Given the description of an element on the screen output the (x, y) to click on. 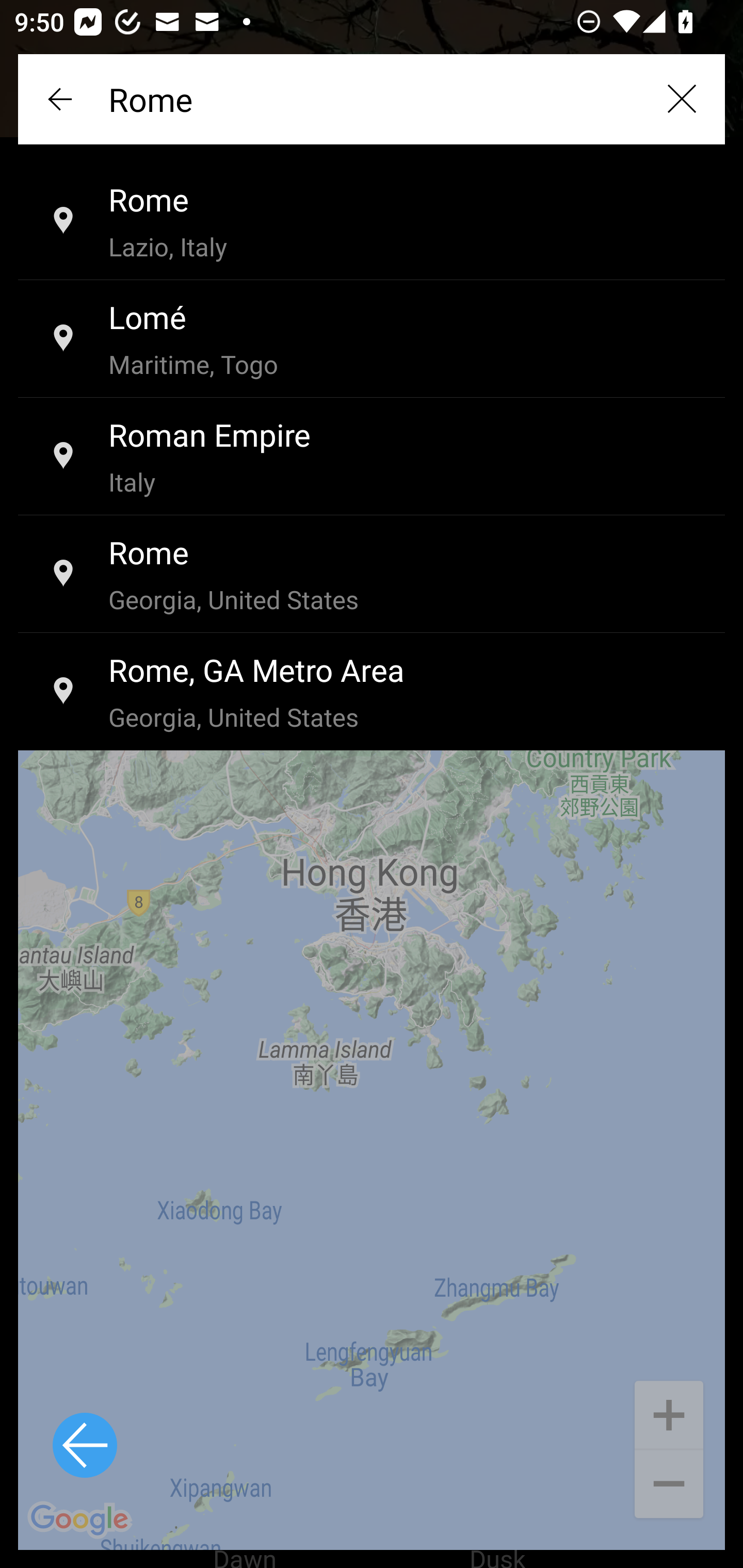
Rome (371, 99)
 (681, 99)
 (61, 99)
 Rome Lazio, Italy (371, 221)
 Lomé Maritime, Togo (371, 339)
 Roman Empire Italy (371, 456)
 Rome Georgia, United States (371, 574)
 Rome, GA Metro Area Georgia, United States (371, 692)
Zoom in (668, 1413)
Zoom out (668, 1485)
